Given the description of an element on the screen output the (x, y) to click on. 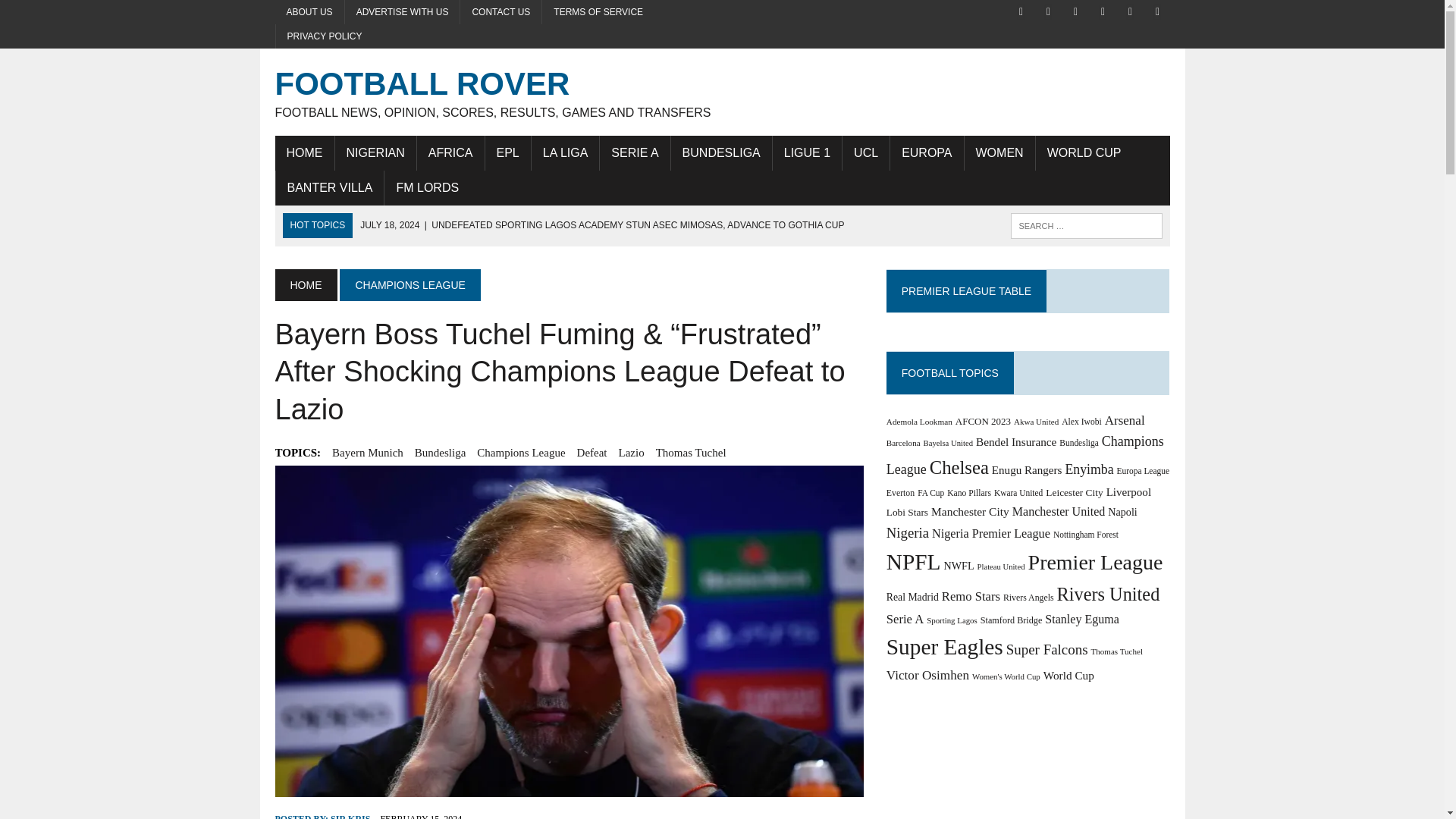
NIGERIAN (375, 152)
BUNDESLIGA (721, 152)
LA LIGA (565, 152)
SERIE A (634, 152)
EPL (507, 152)
PRIVACY POLICY (325, 36)
Football Rover (722, 91)
WOMEN (999, 152)
UCL (866, 152)
LIGUE 1 (807, 152)
CONTACT US (500, 12)
ADVERTISE WITH US (402, 12)
TERMS OF SERVICE (597, 12)
ABOUT US (309, 12)
HOME (304, 152)
